Given the description of an element on the screen output the (x, y) to click on. 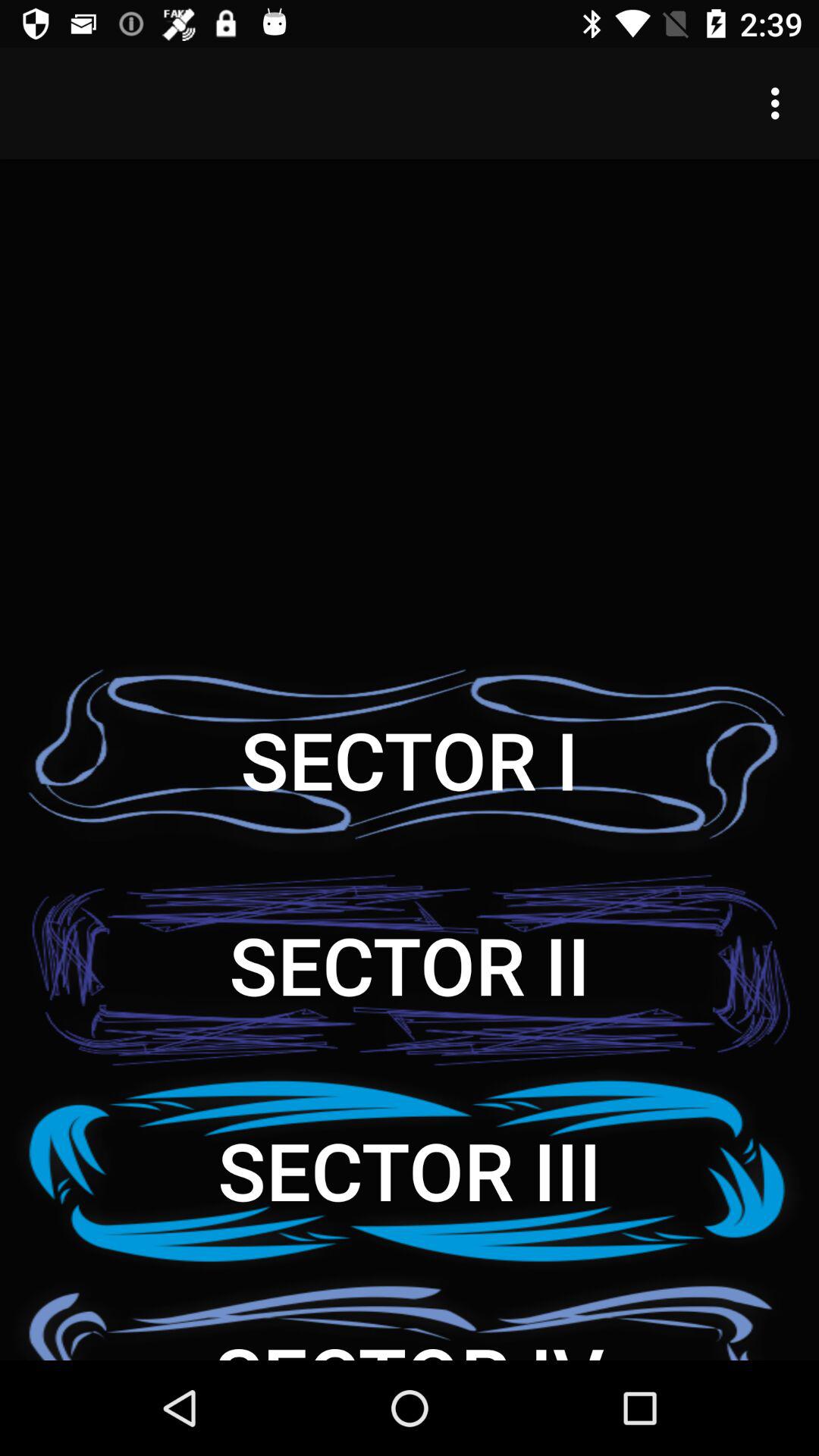
tap item below sector iii item (409, 1316)
